Given the description of an element on the screen output the (x, y) to click on. 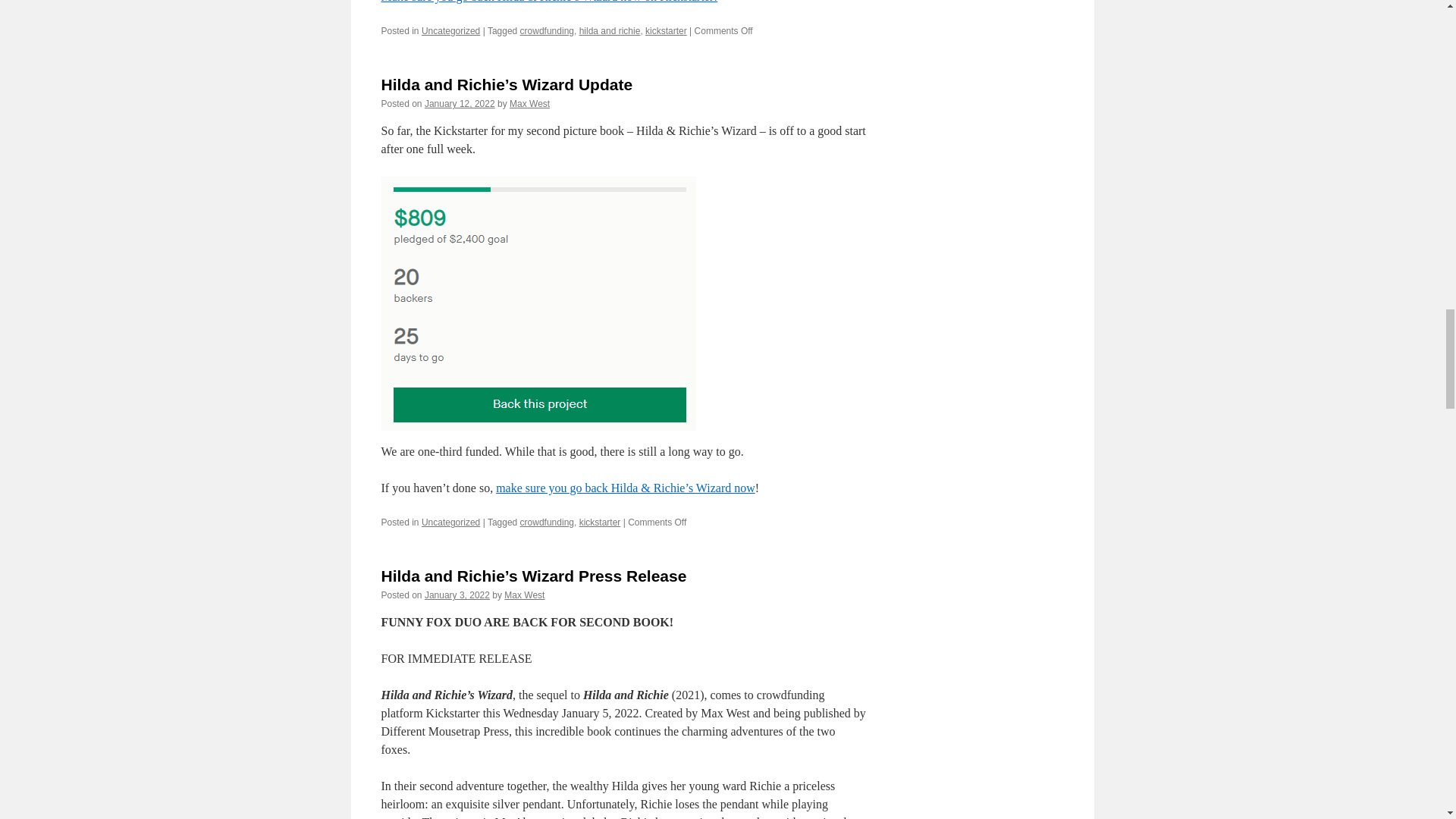
January 12, 2022 (460, 103)
View all posts by Max West (523, 594)
Max West (529, 103)
View all posts by Max West (529, 103)
Uncategorized (451, 30)
7:34 am (460, 103)
hilda and richie (609, 30)
crowdfunding (546, 521)
kickstarter (666, 30)
crowdfunding (546, 30)
